Given the description of an element on the screen output the (x, y) to click on. 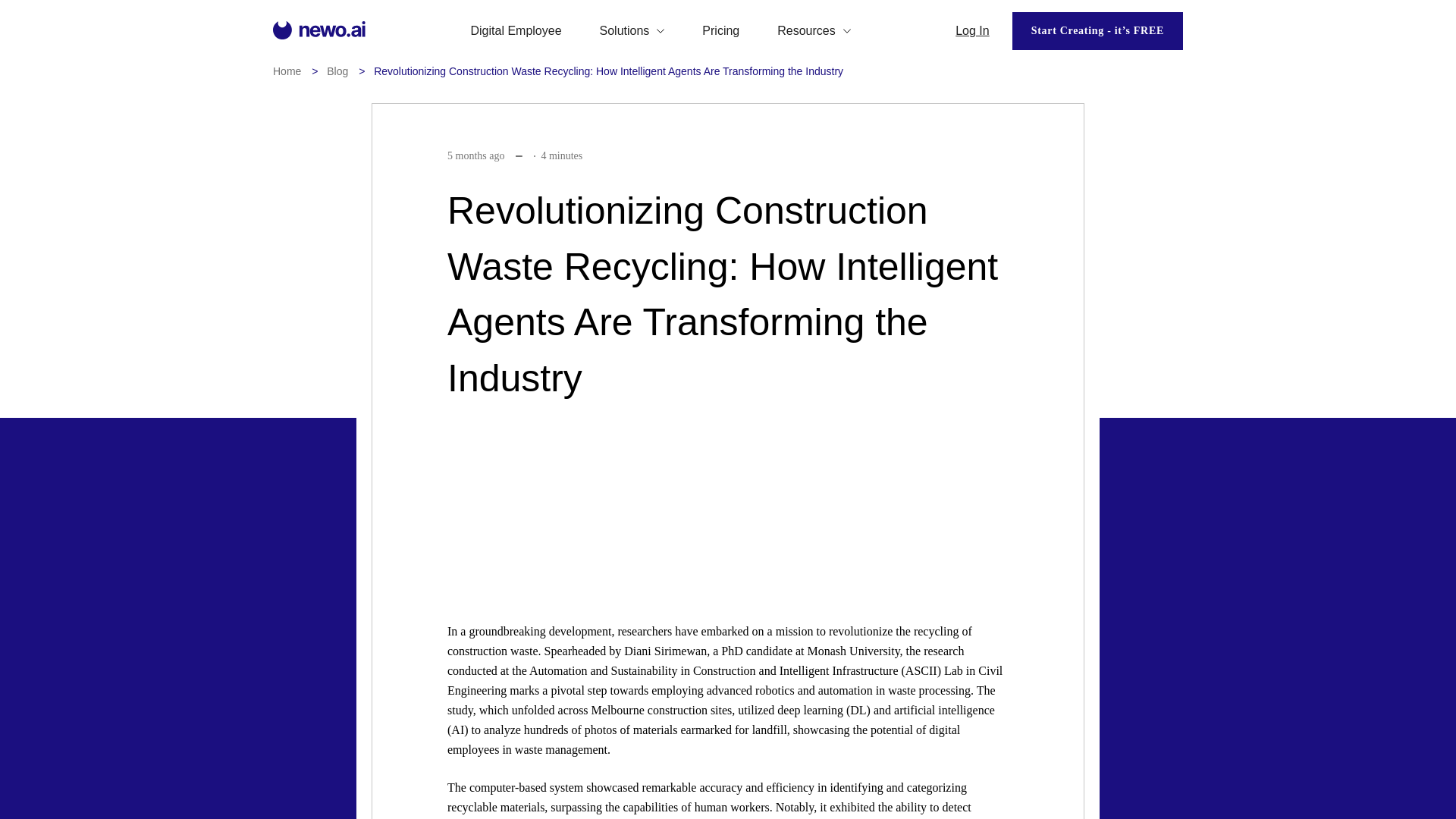
Blog (336, 70)
Digital Employee (515, 30)
Solutions (632, 30)
Home (287, 70)
Pricing (720, 30)
Resources (813, 30)
Log In (971, 31)
